Given the description of an element on the screen output the (x, y) to click on. 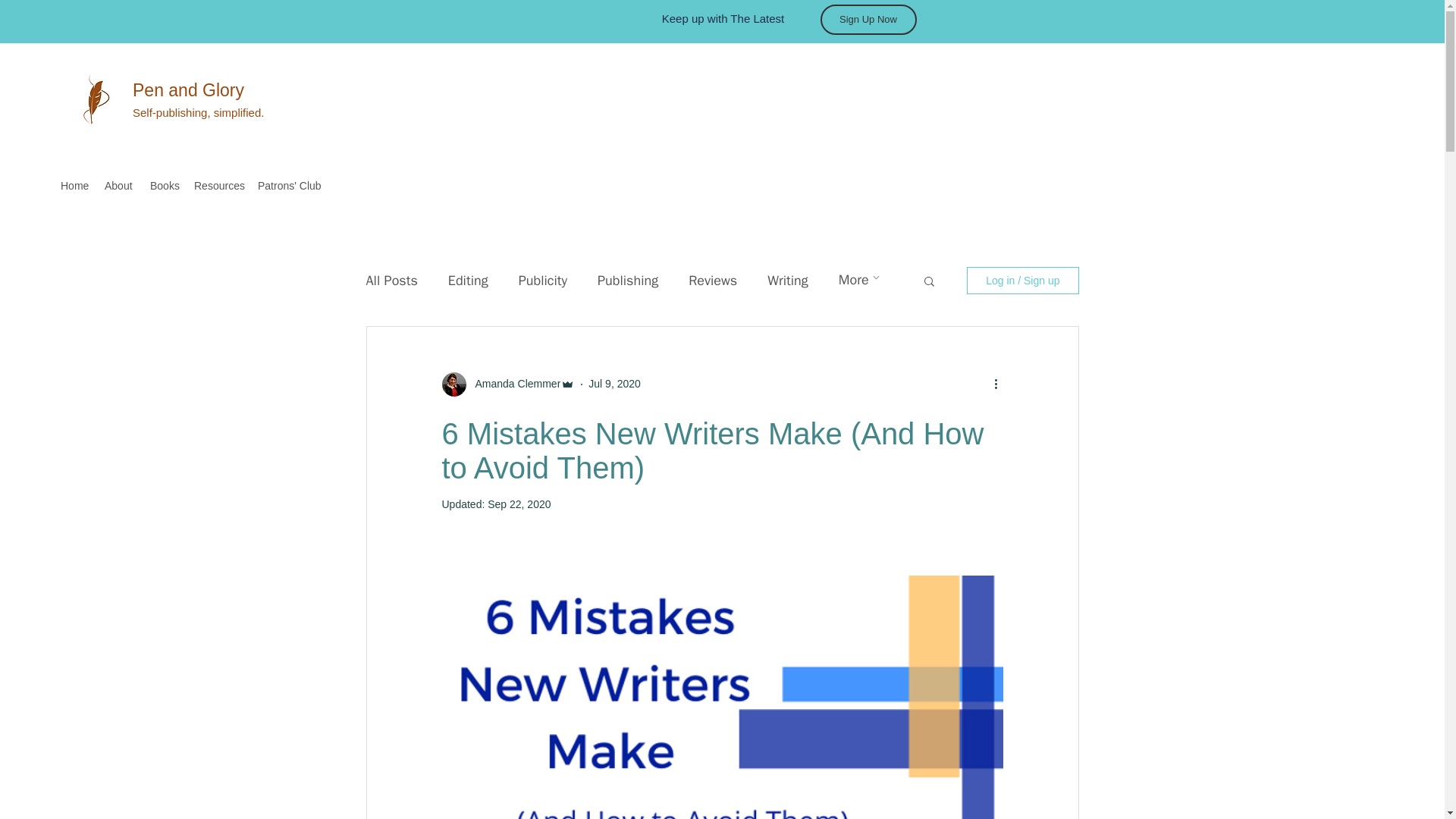
Publicity (542, 280)
Amanda Clemmer (512, 383)
About (119, 185)
Sign Up Now (869, 19)
Patrons' Club (290, 185)
Resources (218, 185)
Books (164, 185)
Reviews (712, 280)
Writing (787, 280)
Editing (467, 280)
